Given the description of an element on the screen output the (x, y) to click on. 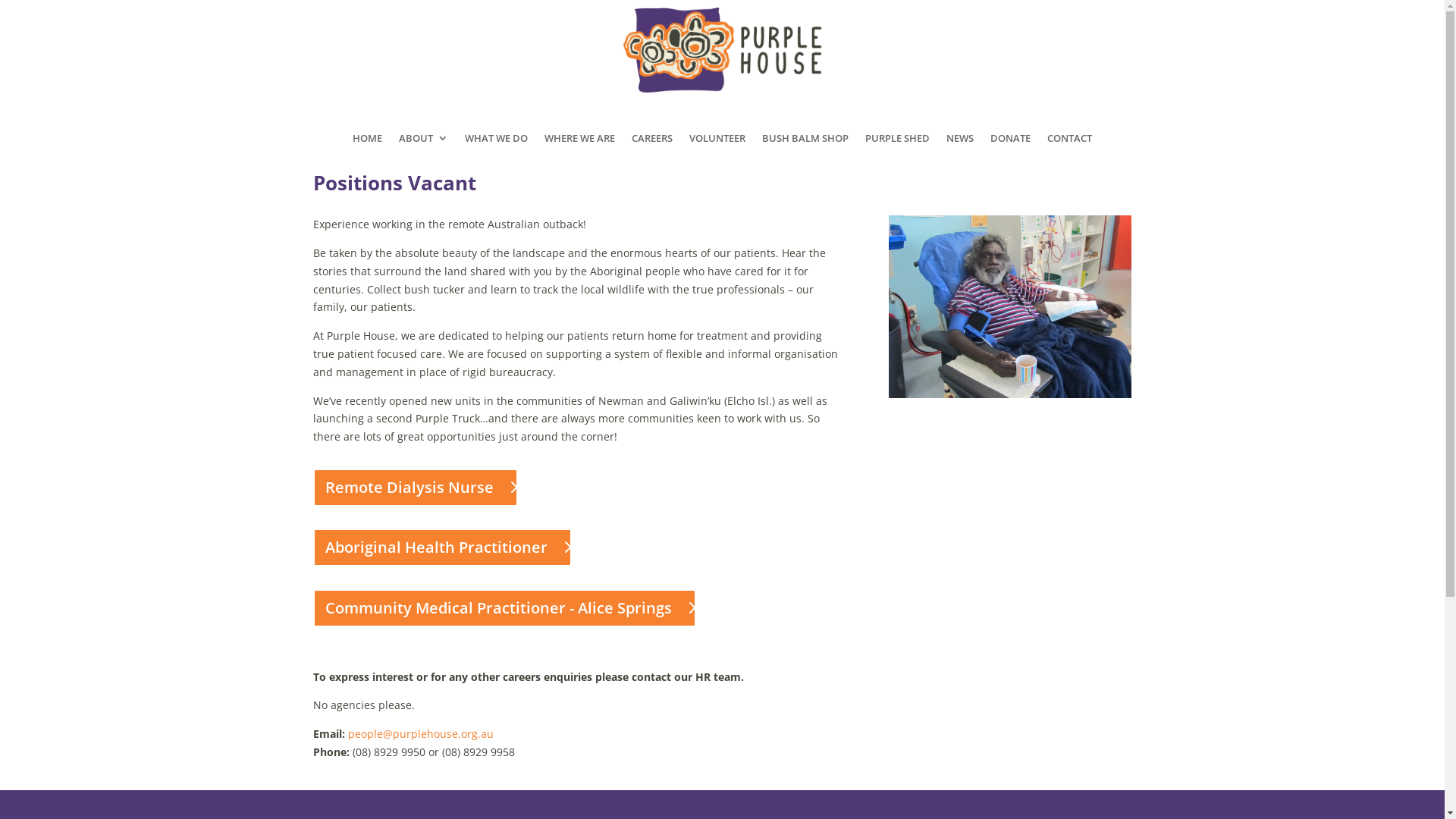
CONTACT Element type: text (1069, 148)
PURPLE SHED Element type: text (897, 148)
DONATE Element type: text (1010, 148)
Community Medical Practitioner - Alice Springs Element type: text (503, 608)
NEWS Element type: text (959, 148)
VOLUNTEER Element type: text (717, 148)
HOME Element type: text (367, 148)
WHAT WE DO Element type: text (495, 148)
Aboriginal Health Practitioner Element type: text (441, 547)
BUSH BALM SHOP Element type: text (805, 148)
ABOUT Element type: text (423, 148)
Remote Dialysis Nurse Element type: text (414, 487)
WHERE WE ARE Element type: text (579, 148)
people@purplehouse.org.au Element type: text (419, 733)
CAREERS Element type: text (651, 148)
IMG_2602 Element type: hover (1009, 306)
